Given the description of an element on the screen output the (x, y) to click on. 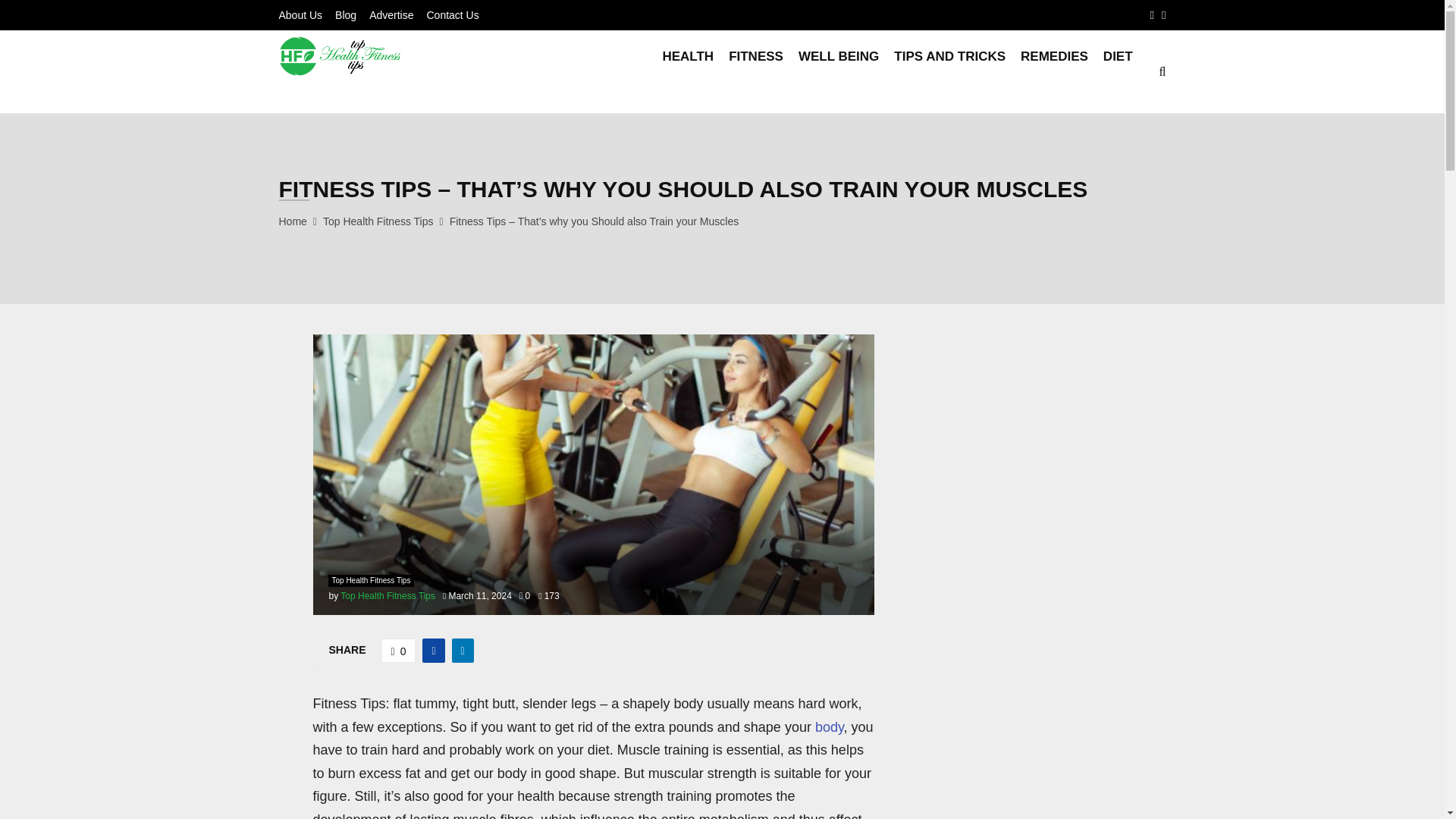
Facebook (1152, 15)
Like (398, 650)
Linkedin (1163, 15)
Linkedin (1163, 15)
Home (293, 221)
HEALTH (687, 71)
Advertise (391, 15)
Contact Us (452, 15)
REMEDIES (1053, 71)
FITNESS (756, 71)
DIET (1117, 71)
WELL BEING (838, 71)
Top Health Fitness Tips (370, 580)
About Us (301, 15)
Top Health Fitness Tips (387, 595)
